Given the description of an element on the screen output the (x, y) to click on. 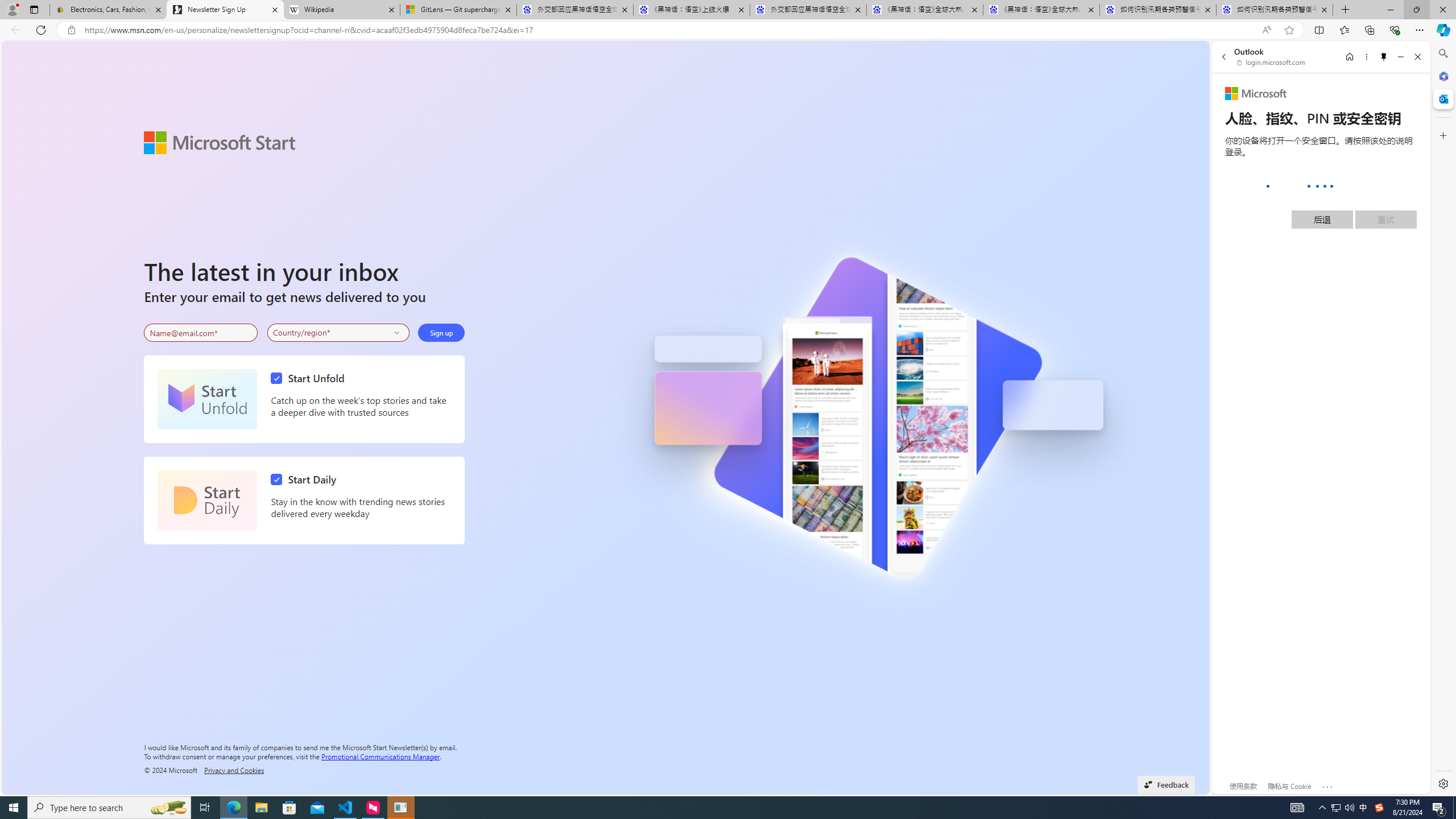
Wikipedia (341, 9)
Start Unfold (207, 399)
Microsoft (1255, 93)
Select your country (338, 332)
Electronics, Cars, Fashion, Collectibles & More | eBay (108, 9)
